Given the description of an element on the screen output the (x, y) to click on. 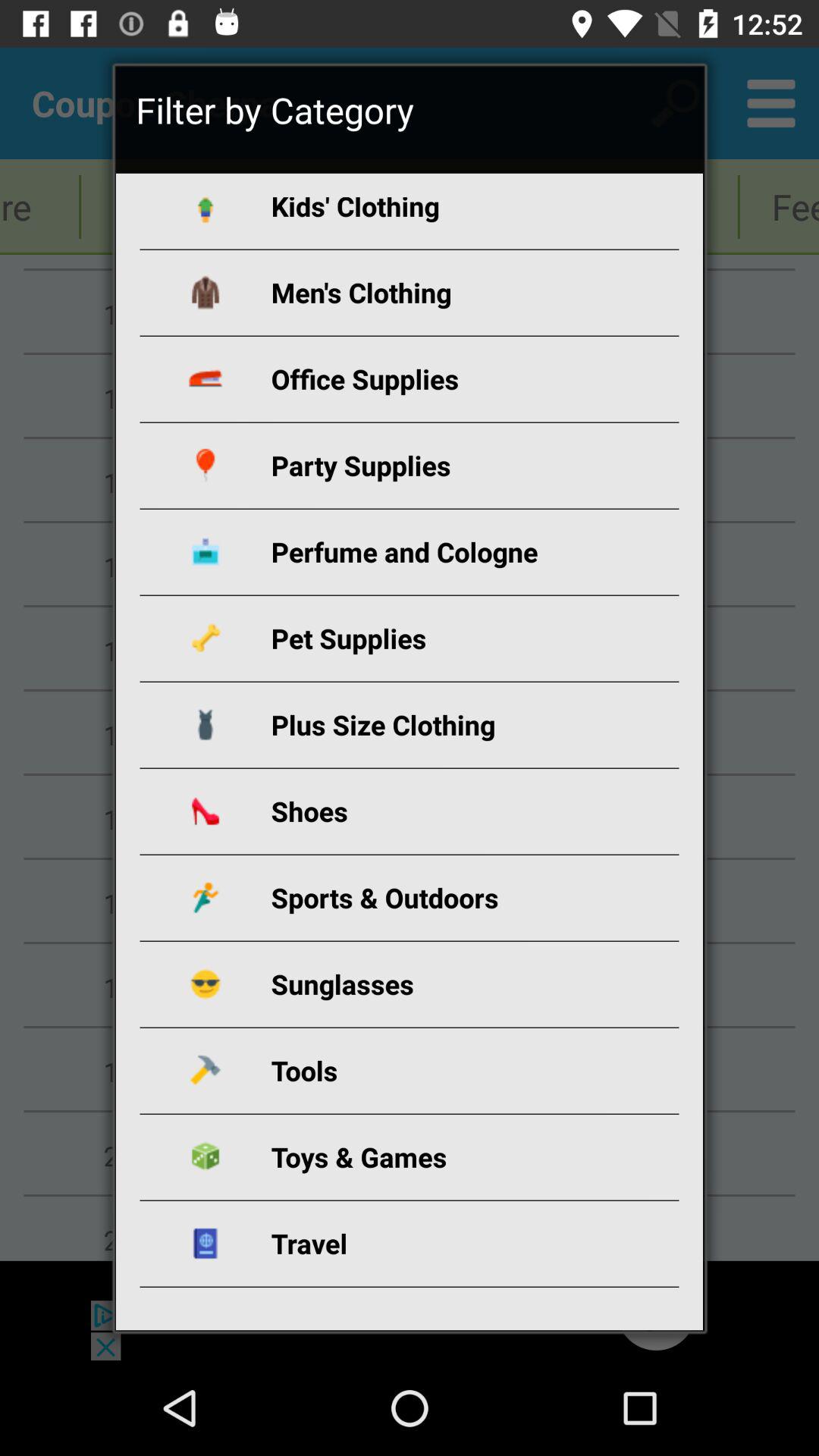
select item above the plus size clothing icon (427, 637)
